Given the description of an element on the screen output the (x, y) to click on. 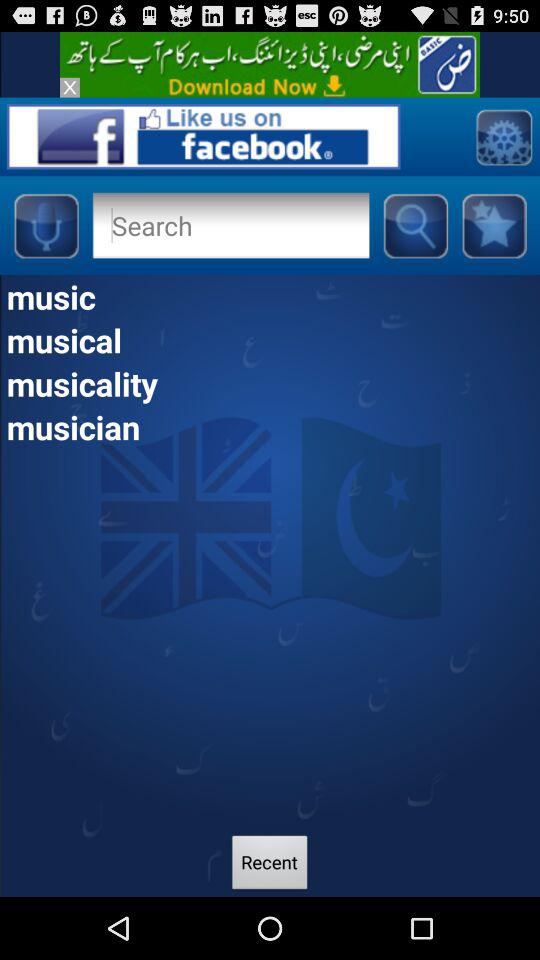
the button is used to open the settings (503, 136)
